Given the description of an element on the screen output the (x, y) to click on. 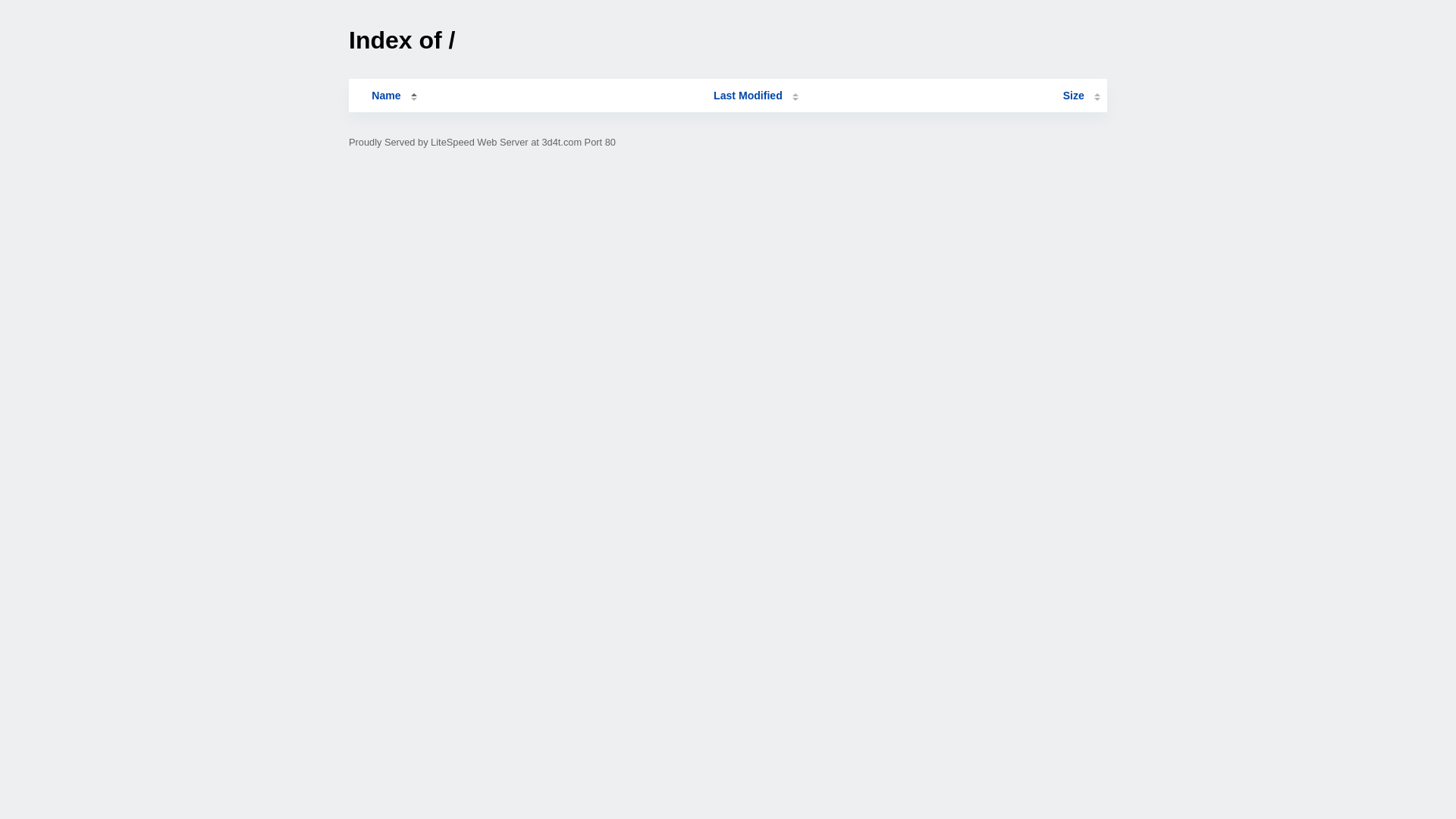
Size Element type: text (1081, 95)
Name Element type: text (385, 95)
Last Modified Element type: text (755, 95)
